Given the description of an element on the screen output the (x, y) to click on. 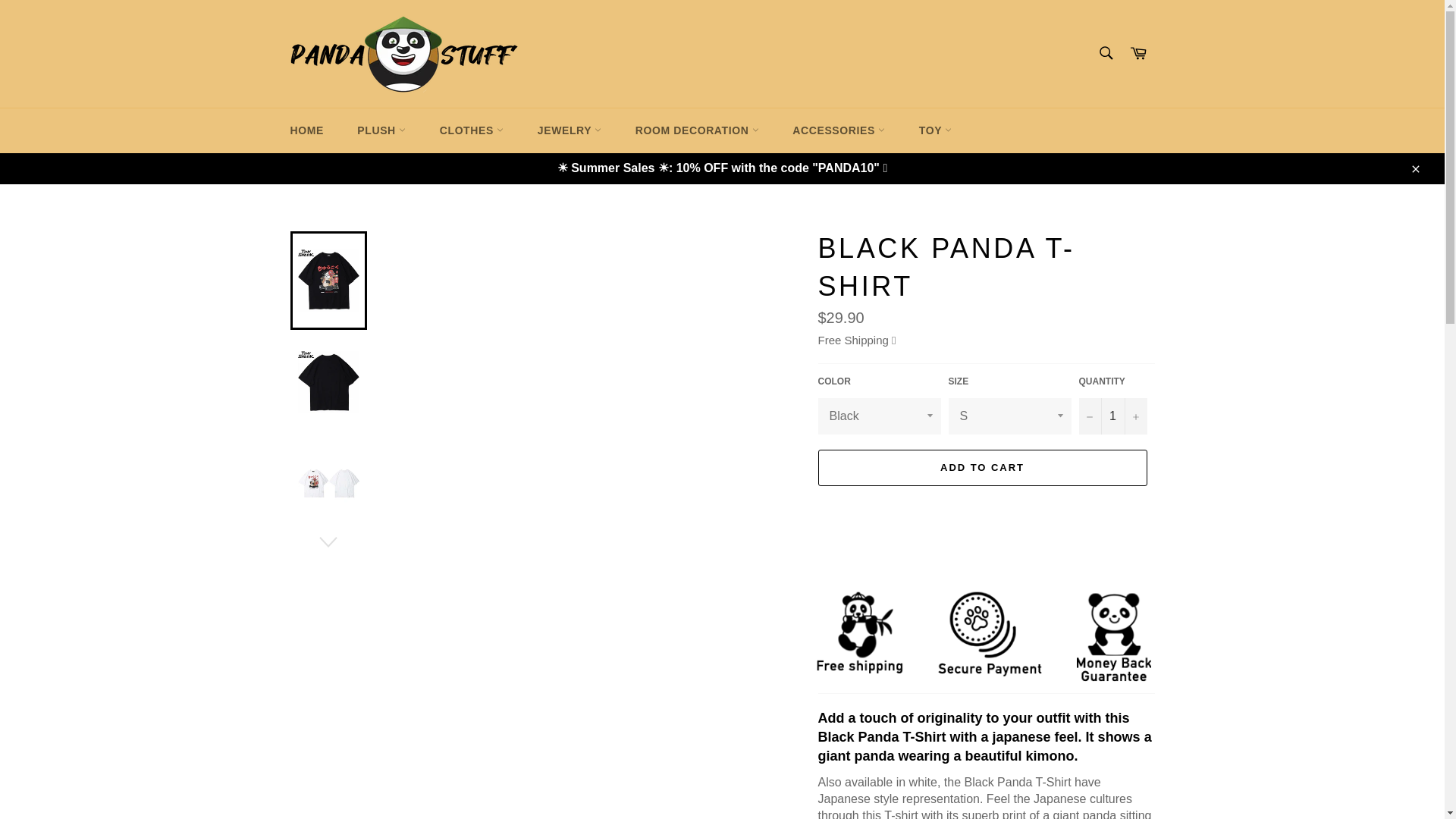
1 (1112, 416)
